Given the description of an element on the screen output the (x, y) to click on. 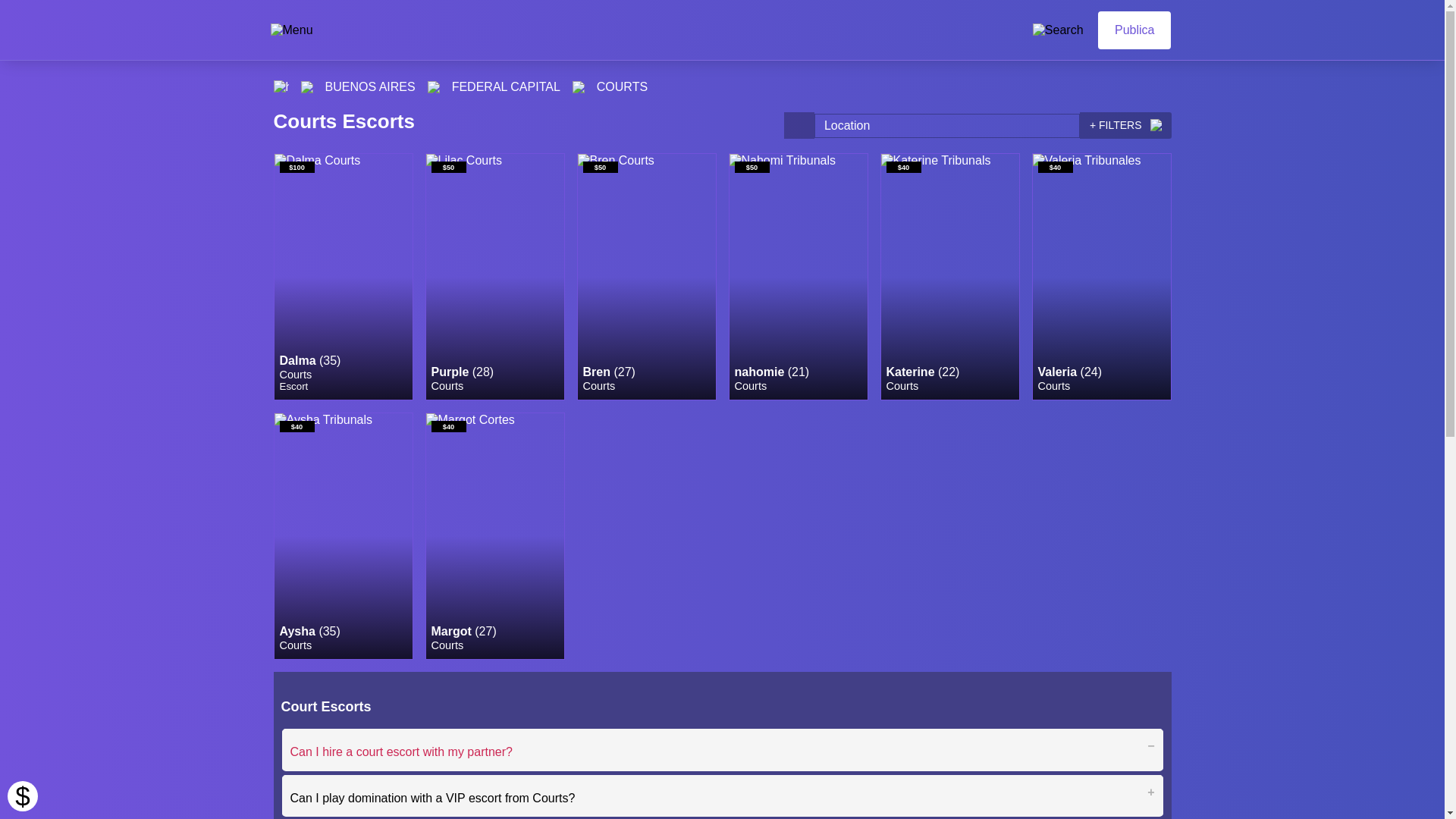
arrow (578, 87)
arrow (433, 87)
arrow (306, 87)
ArgentinaXP (671, 30)
home (280, 87)
